Given the description of an element on the screen output the (x, y) to click on. 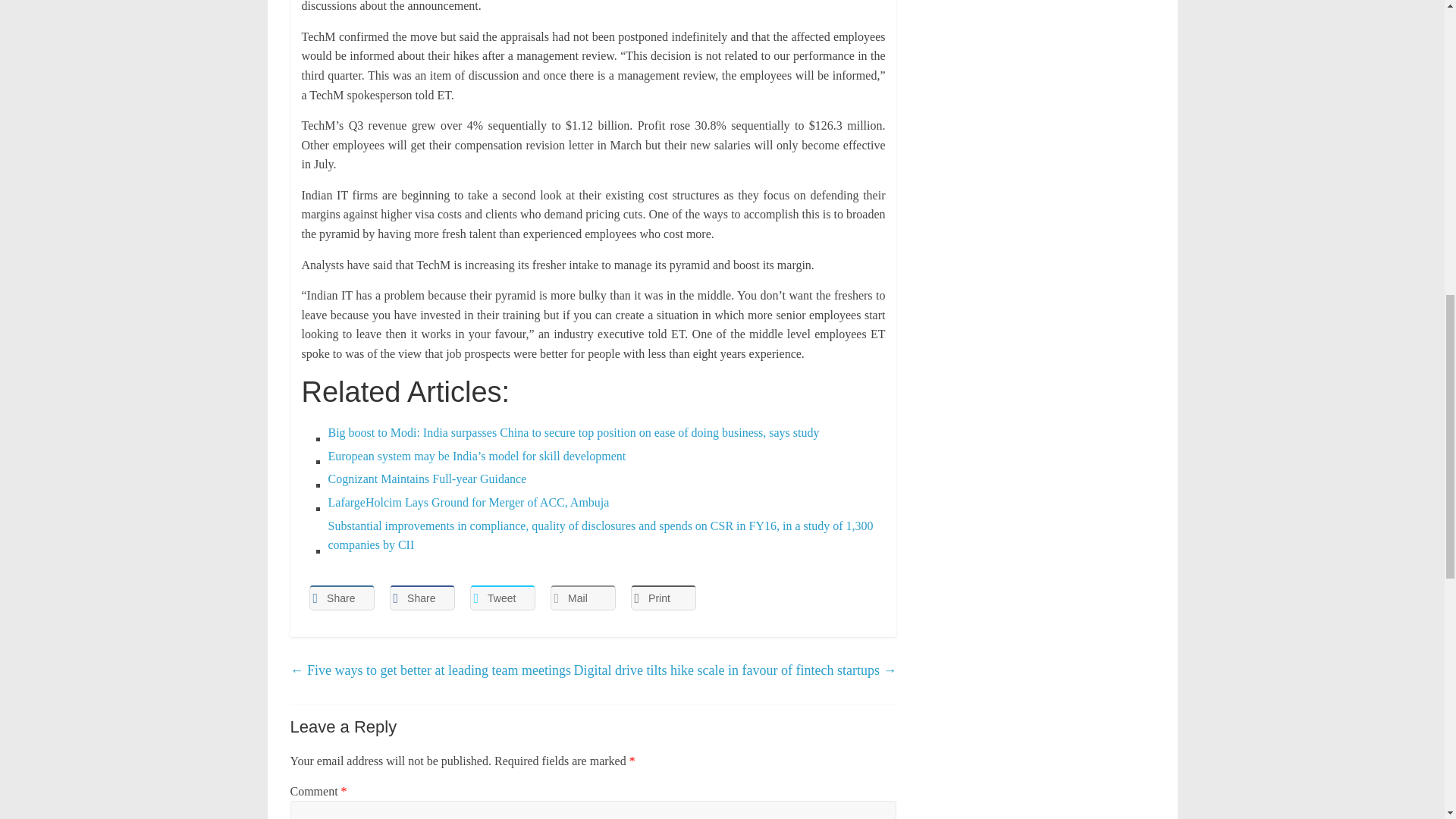
Print (662, 597)
Mail (582, 597)
Cognizant Maintains Full-year Guidance (606, 478)
Share on LinkedIn (341, 597)
Share (341, 597)
LafargeHolcim Lays Ground for Merger of ACC, Ambuja (606, 502)
Tweet (502, 597)
Share (422, 597)
